Given the description of an element on the screen output the (x, y) to click on. 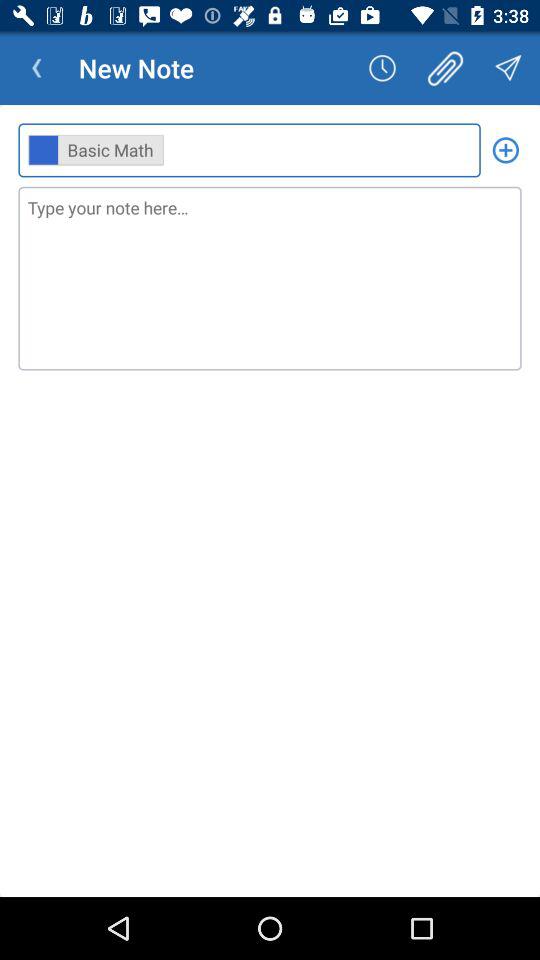
flip until ,,  icon (249, 150)
